Given the description of an element on the screen output the (x, y) to click on. 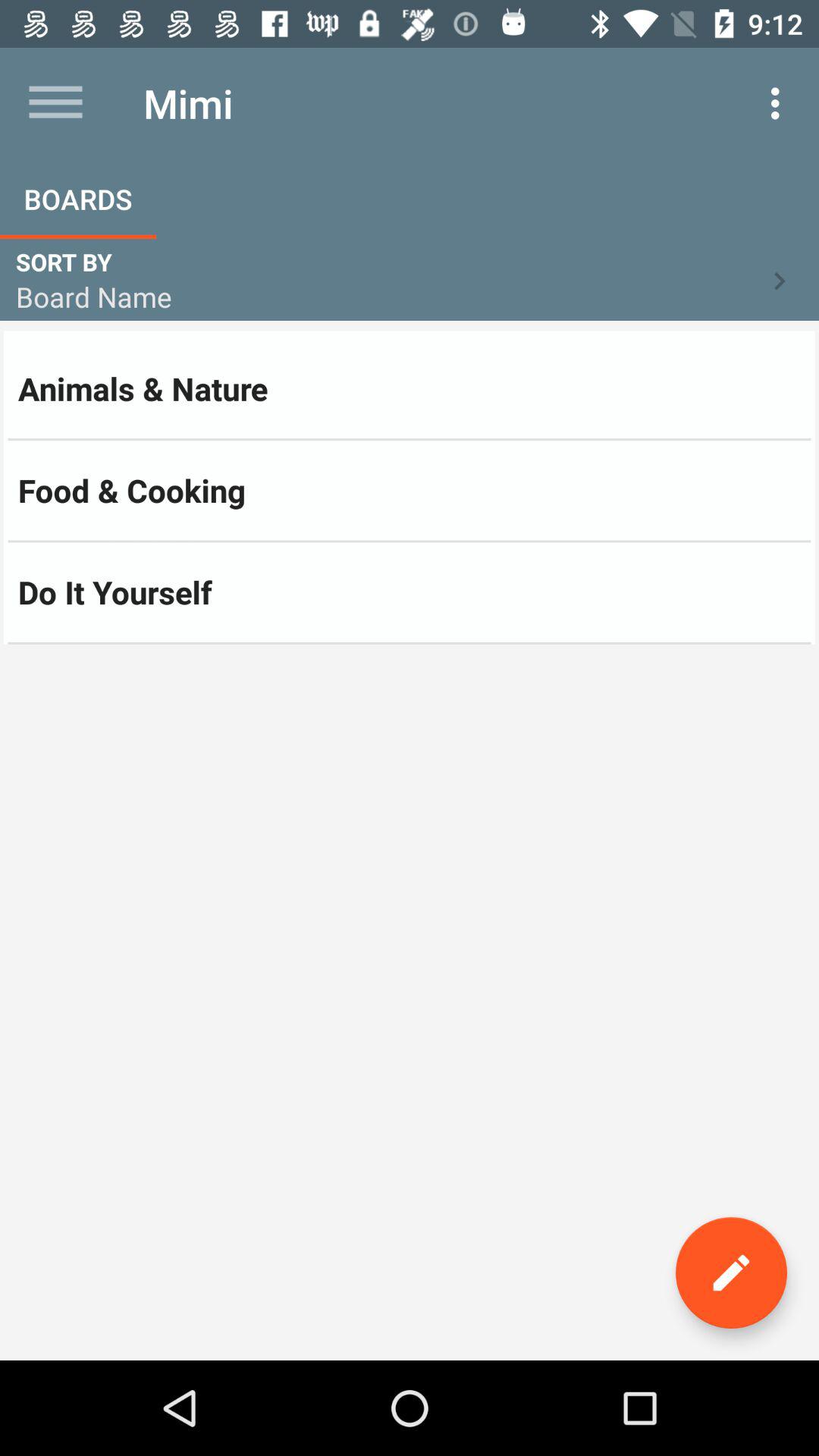
edit information (731, 1272)
